Given the description of an element on the screen output the (x, y) to click on. 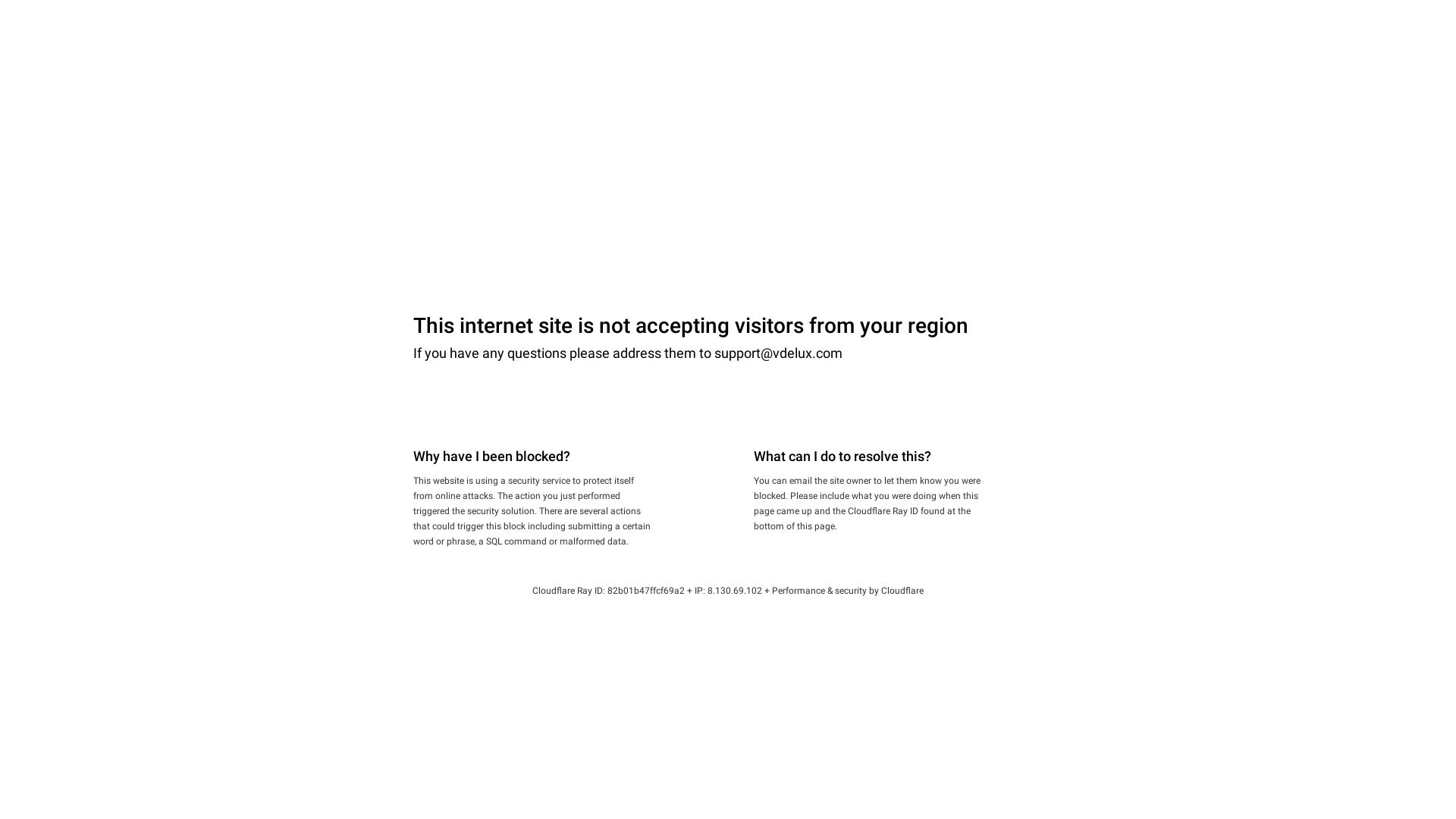
Cloudflare Element type: text (902, 590)
